Given the description of an element on the screen output the (x, y) to click on. 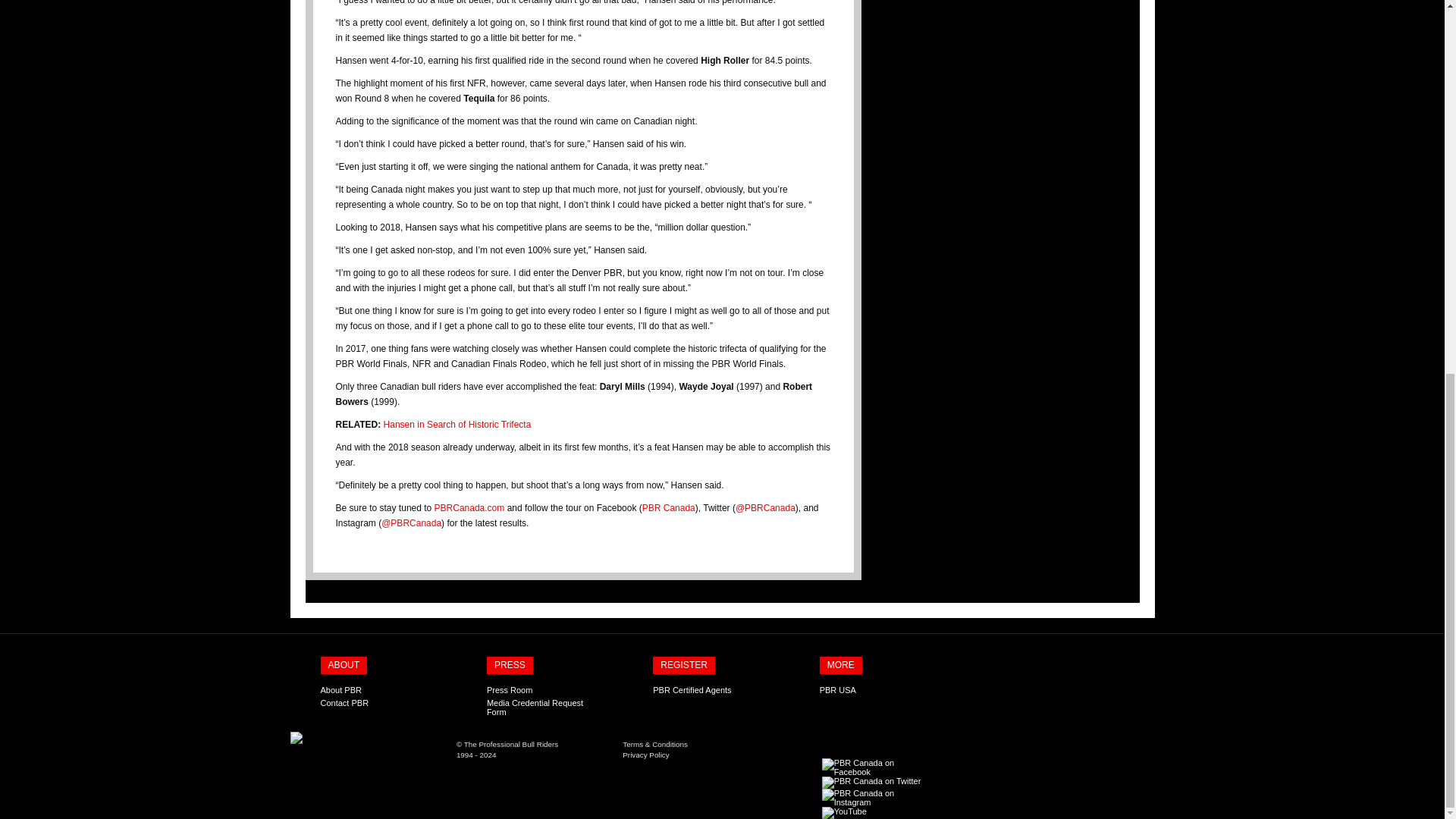
Hansen in Search of Historic Trifecta (457, 424)
Visit PBR.com (511, 744)
PBRCanada.com (469, 507)
